Given the description of an element on the screen output the (x, y) to click on. 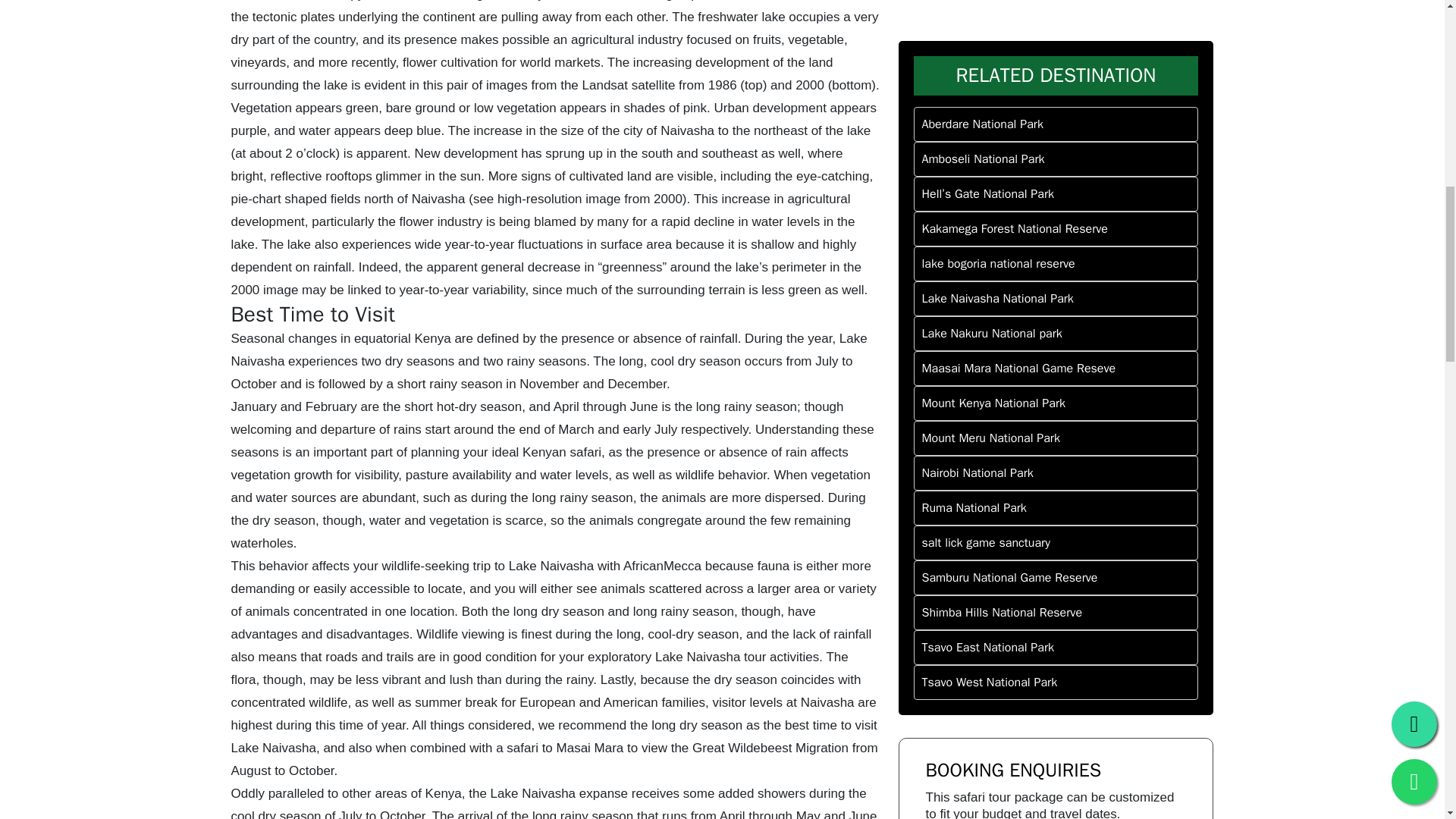
Mount Meru National Park (1055, 17)
Samburu National Game Reserve (1055, 156)
Shimba Hills National Reserve (1055, 191)
Tsavo West National Park (1055, 261)
Nairobi National Park (1055, 52)
Ruma National Park (1055, 86)
salt lick game sanctuary (1055, 121)
Tsavo East National Park (1055, 226)
